Given the description of an element on the screen output the (x, y) to click on. 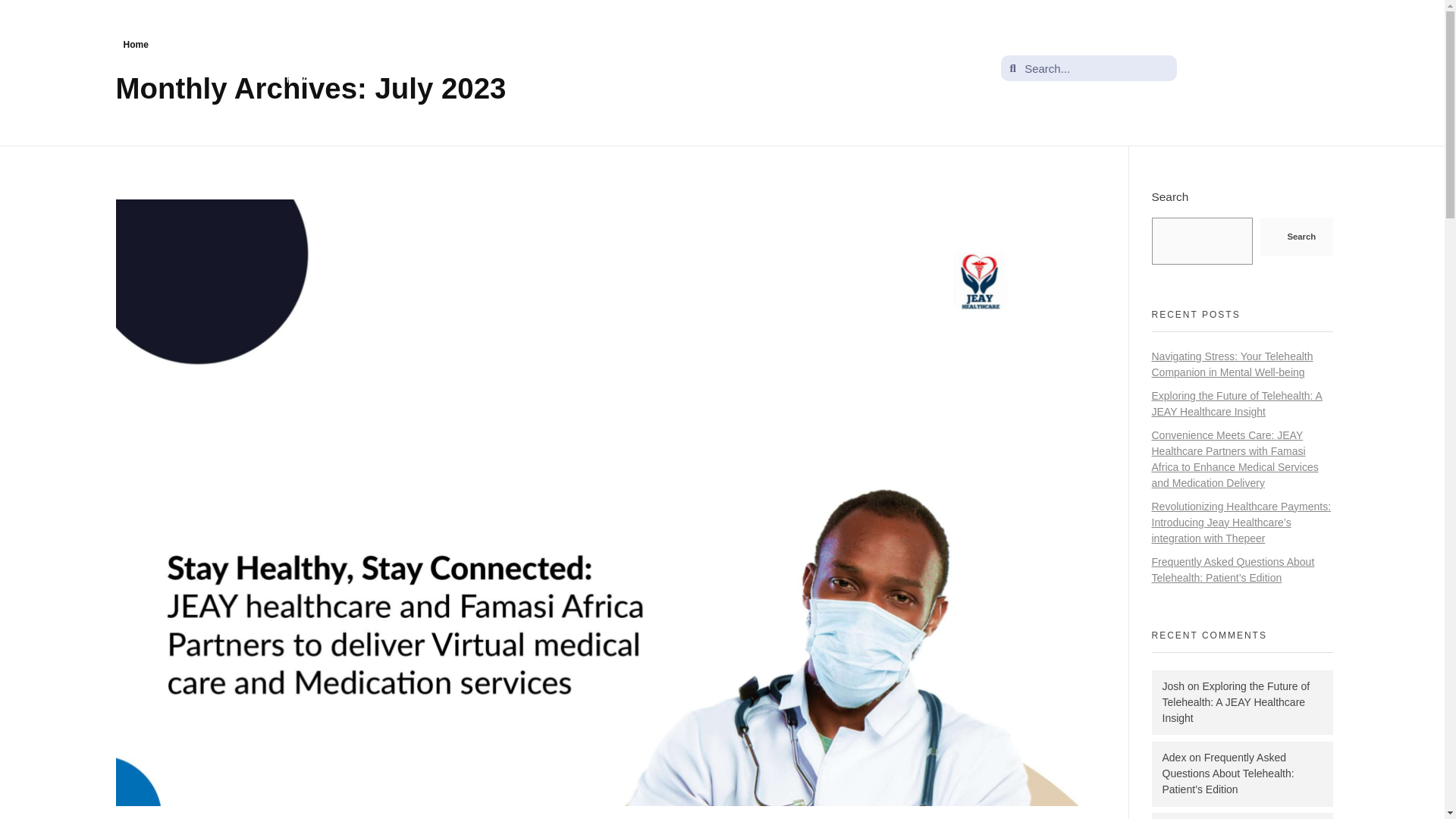
Services (716, 67)
Blog (782, 67)
Contact (845, 67)
Home (135, 44)
Home (584, 67)
About (646, 67)
